Given the description of an element on the screen output the (x, y) to click on. 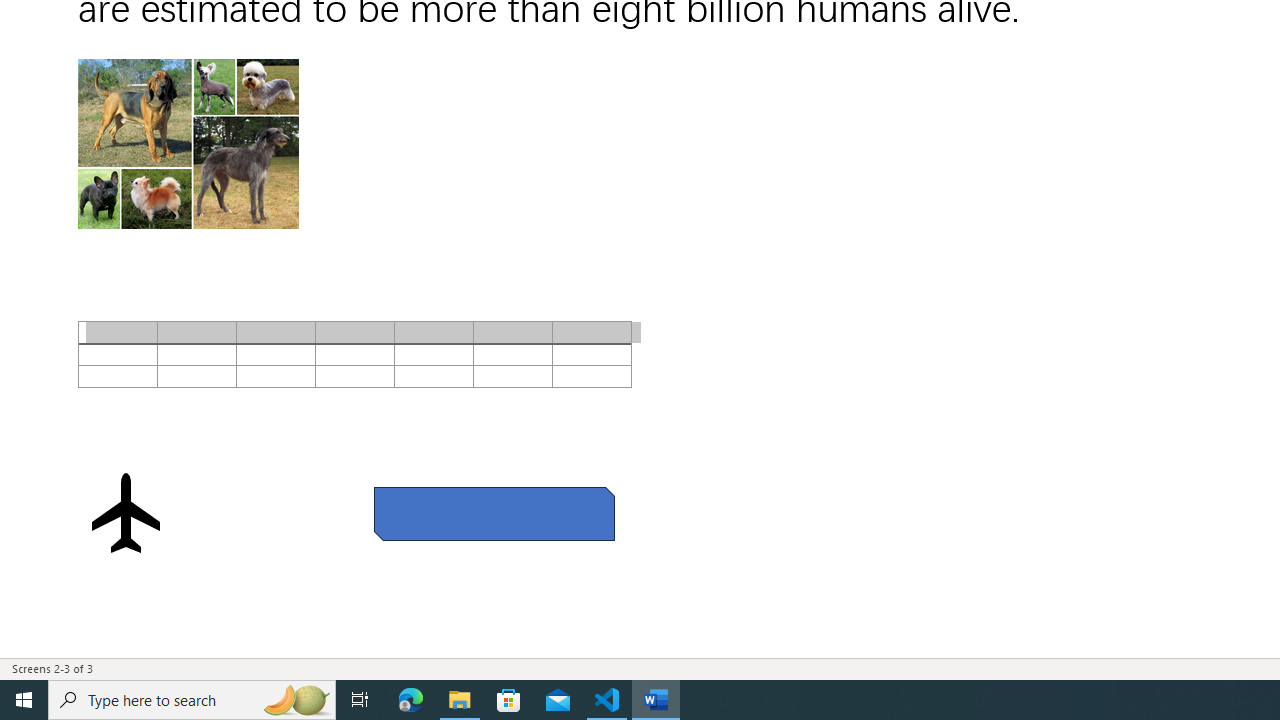
Morphological variation in six dogs (188, 143)
Airplane with solid fill (126, 512)
Page Number Screens 2-3 of 3  (52, 668)
Rectangle: Diagonal Corners Snipped 2 (493, 513)
